Given the description of an element on the screen output the (x, y) to click on. 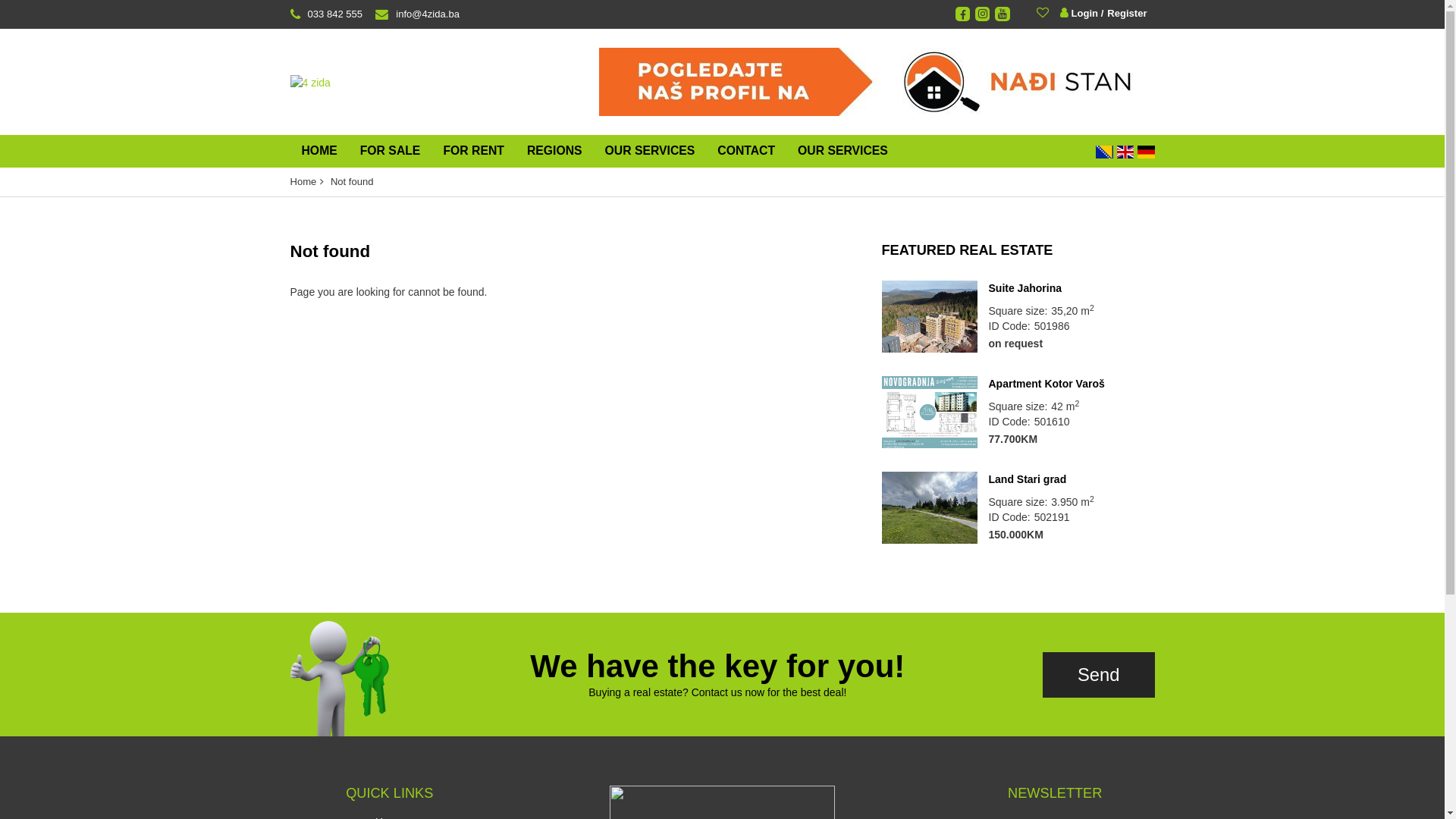
Instagram Element type: hover (982, 13)
Bosanski Element type: hover (1103, 151)
Return to home page Element type: hover (309, 82)
Not found Element type: text (351, 182)
Land Stari grad Element type: text (1071, 478)
CONTACT Element type: text (746, 150)
Suite Jahorina Element type: text (1071, 287)
OUR SERVICES Element type: text (842, 150)
Suite Jahorina Element type: hover (928, 316)
YouTube Element type: hover (1001, 13)
Facebook Element type: hover (962, 13)
Login Element type: text (1079, 13)
English Element type: hover (1125, 151)
FOR RENT Element type: text (473, 150)
info@4zida.ba Element type: text (413, 13)
033 842 555 Element type: text (325, 13)
My favorites Element type: hover (1044, 11)
Register Element type: text (1124, 13)
HOME Element type: text (318, 150)
FOR SALE Element type: text (390, 150)
REGIONS Element type: text (554, 150)
OUR SERVICES Element type: text (649, 150)
Land Stari grad Element type: hover (928, 507)
Home Element type: text (302, 182)
Deutsch Element type: hover (1145, 151)
